Given the description of an element on the screen output the (x, y) to click on. 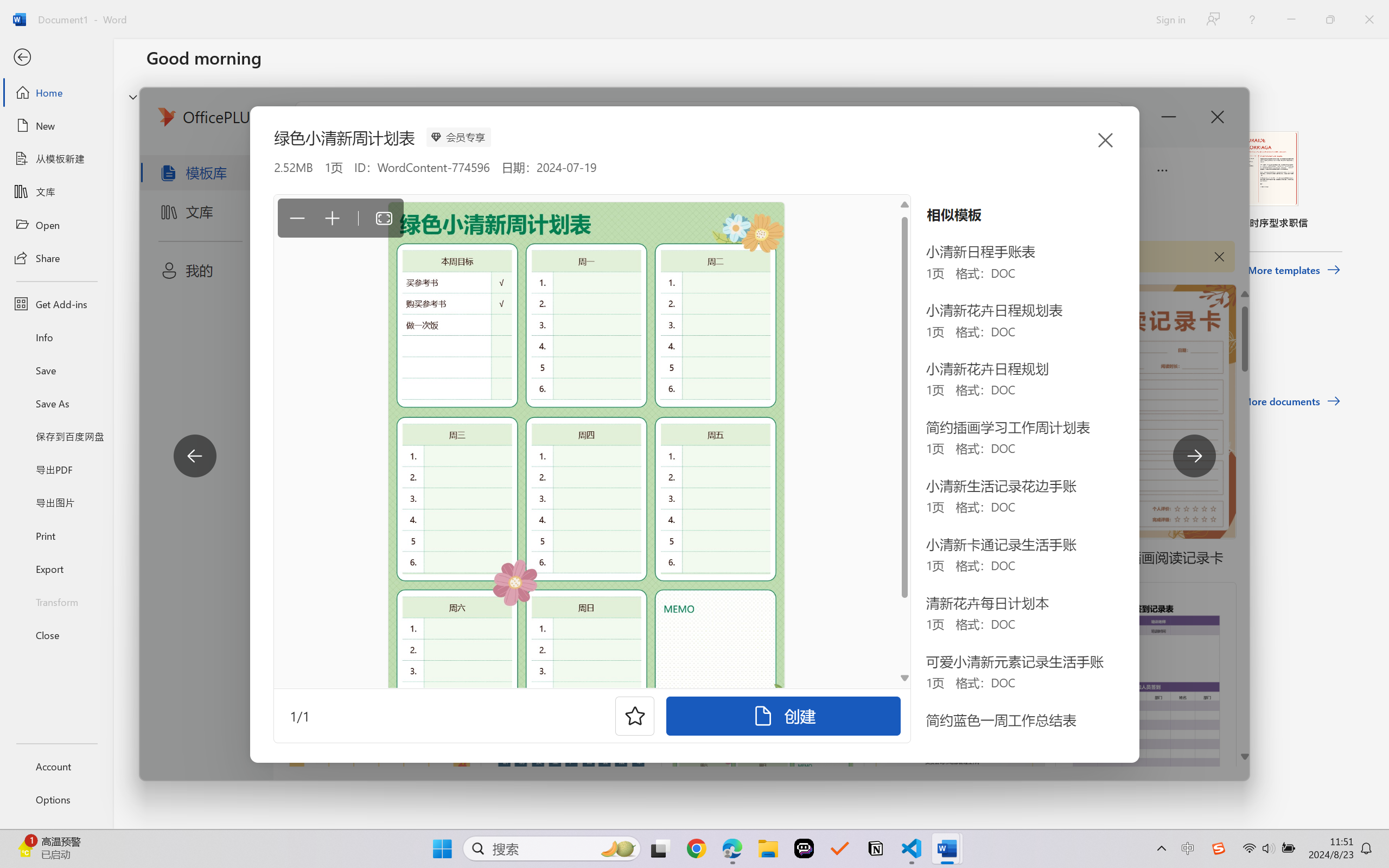
Save As (56, 403)
Options (56, 798)
Back (56, 57)
Print (56, 535)
Transform (56, 601)
Info (56, 337)
